Given the description of an element on the screen output the (x, y) to click on. 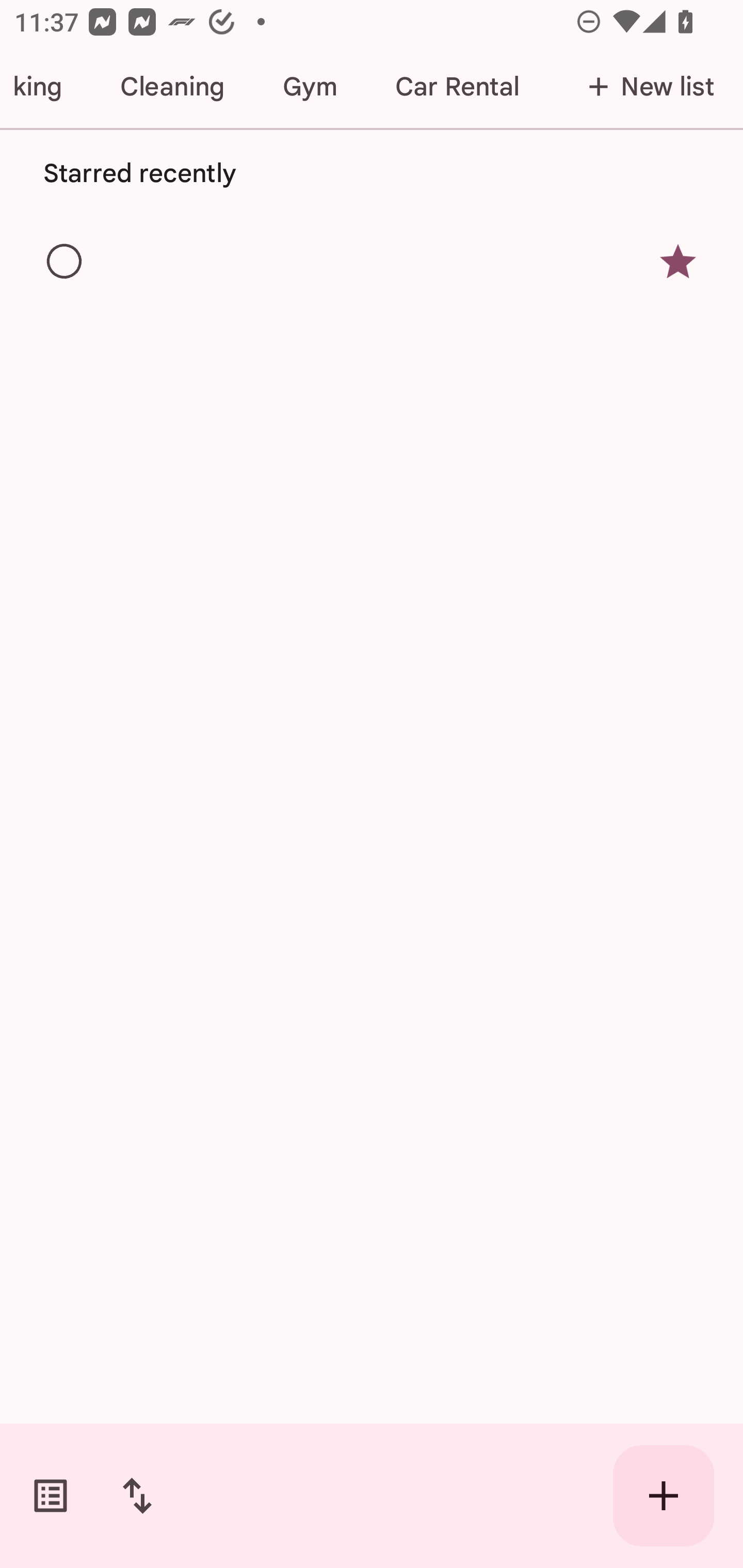
Hotel Booking (45, 86)
Cleaning (171, 86)
Gym (309, 86)
Car Rental (456, 86)
New list (645, 86)
(No title), Starred Remove star Mark as complete (371, 260)
Remove star (677, 261)
Mark as complete (64, 261)
Switch task lists (50, 1495)
Create new task (663, 1495)
Change sort order (136, 1495)
